Given the description of an element on the screen output the (x, y) to click on. 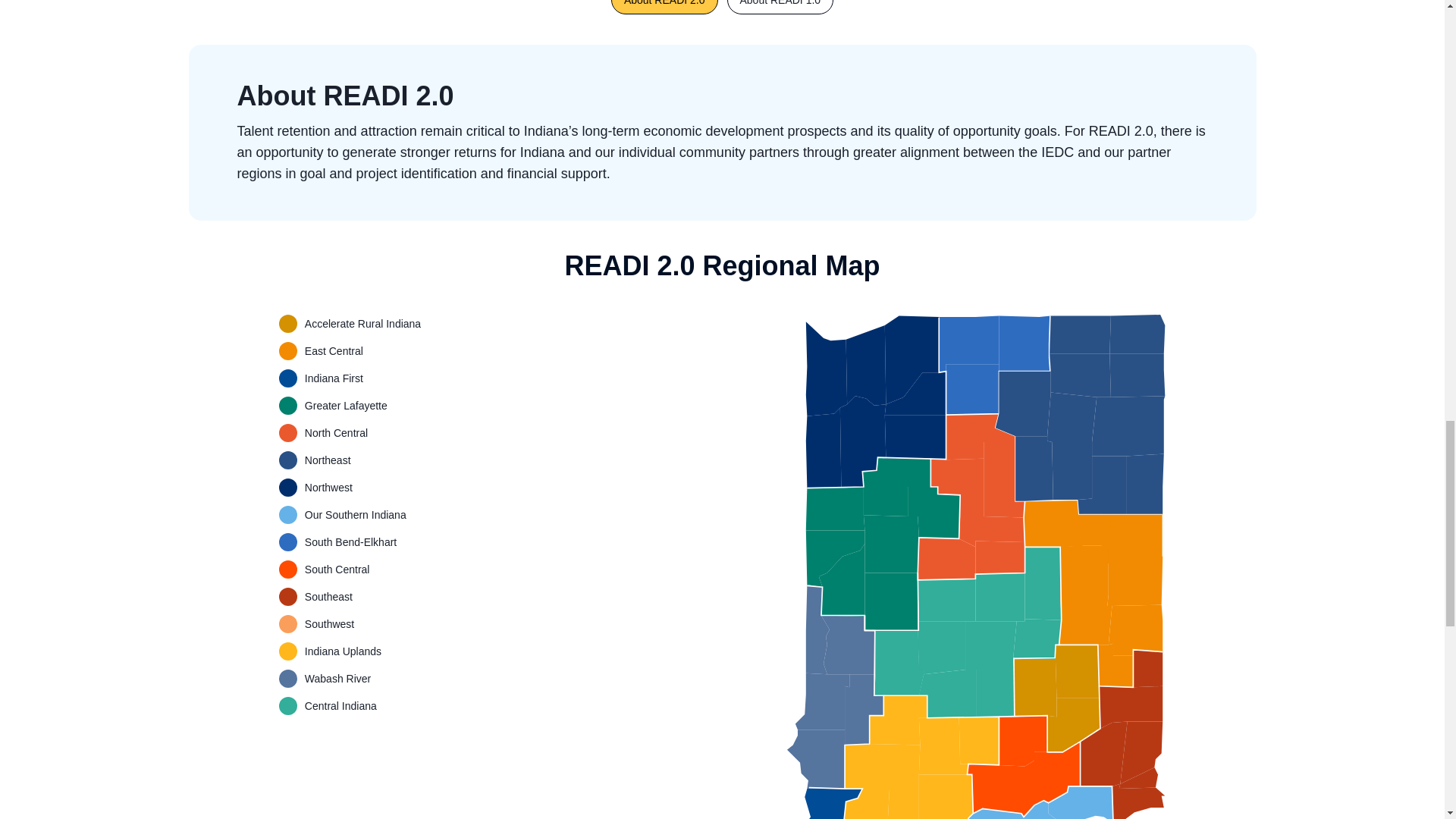
About READI 2.0 (664, 7)
About READI 1.0 (779, 7)
